Given the description of an element on the screen output the (x, y) to click on. 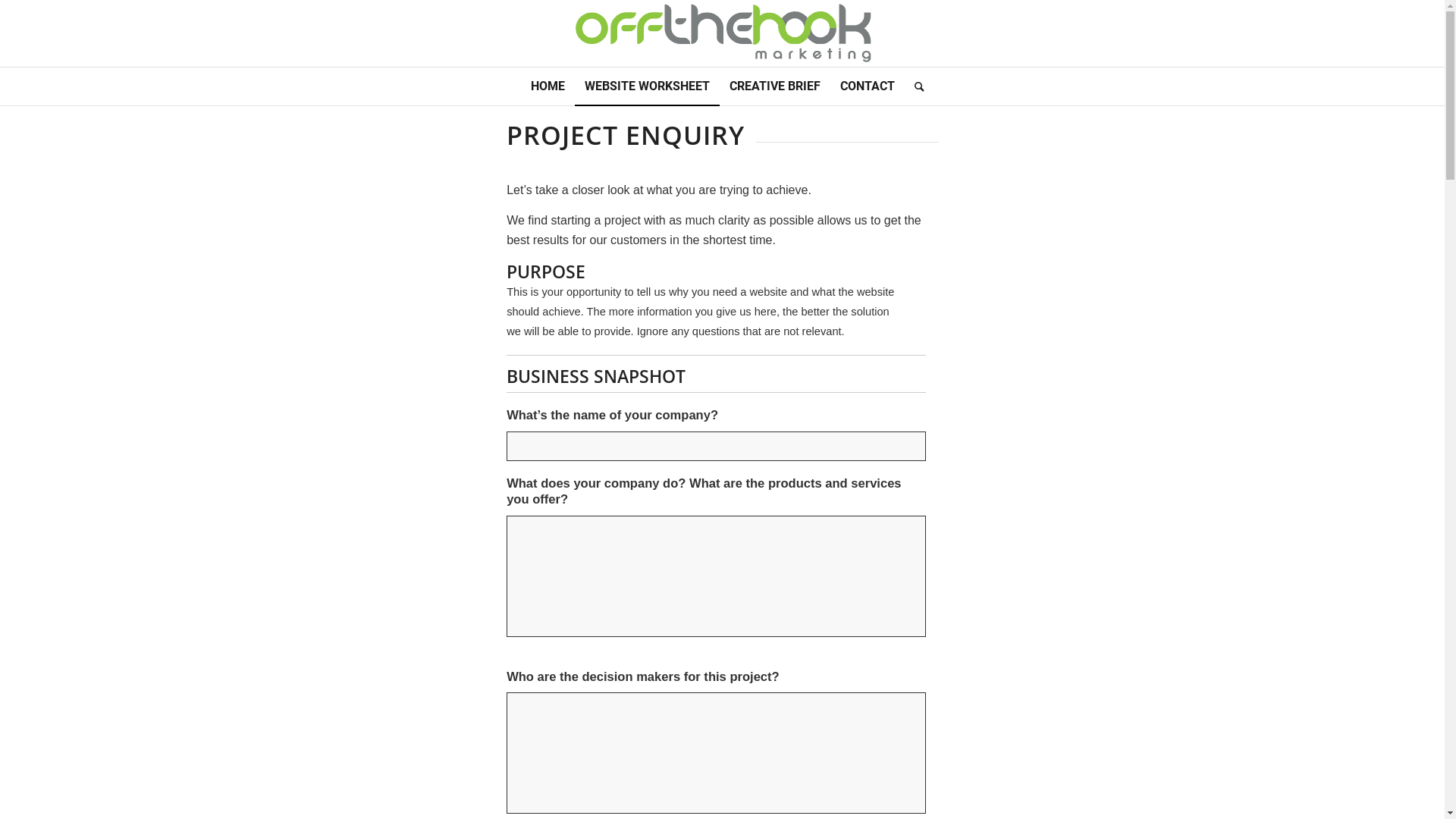
WEBSITE WORKSHEET Element type: text (646, 86)
CREATIVE BRIEF Element type: text (773, 86)
HOME Element type: text (547, 86)
CONTACT Element type: text (866, 86)
